Given the description of an element on the screen output the (x, y) to click on. 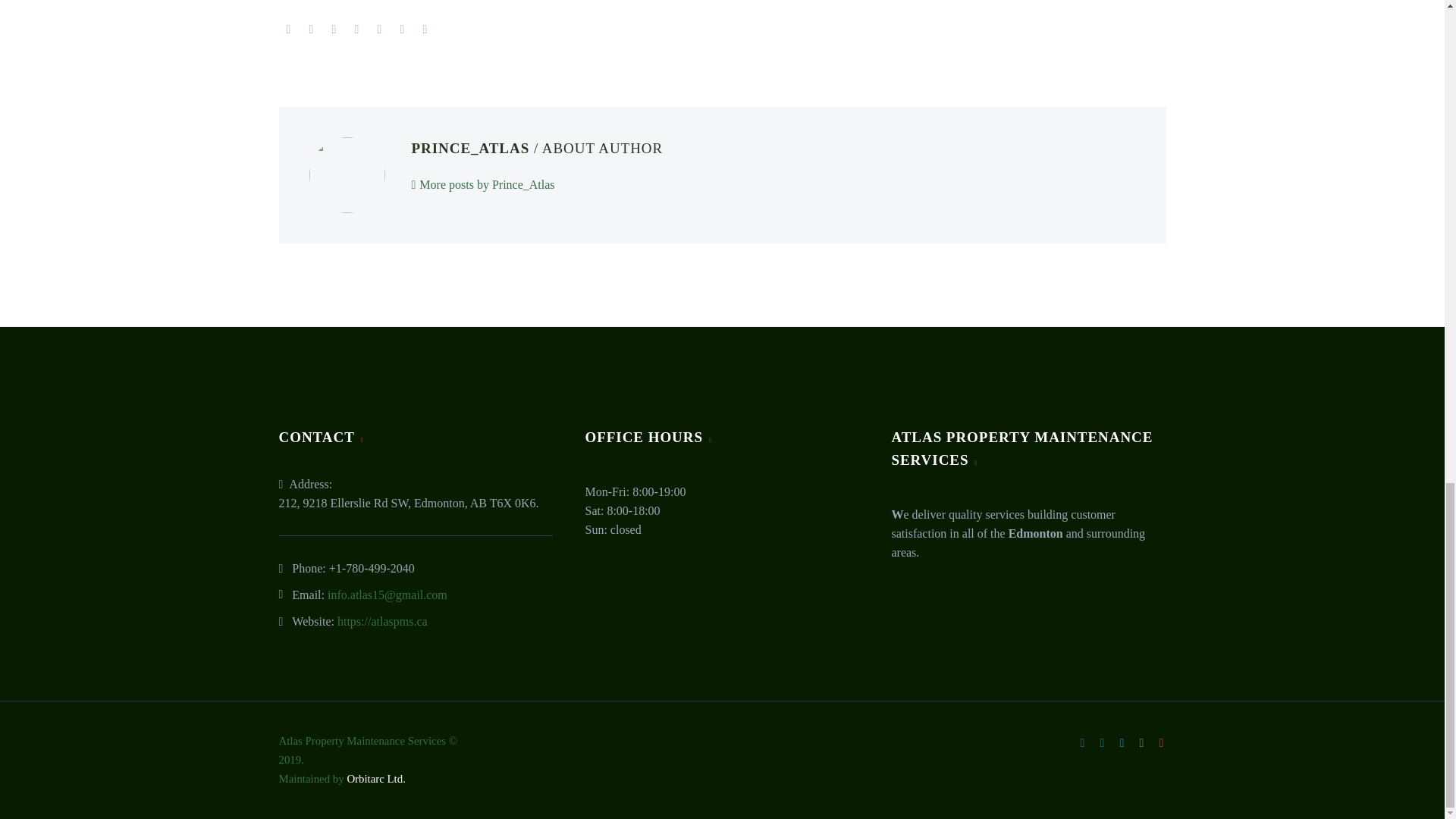
LinkedIn (401, 29)
Twitter (310, 29)
linkedin (1102, 743)
StumbleUpon (424, 29)
Google Plus (333, 29)
facebook (1083, 743)
Tumblr (378, 29)
Pinterest (356, 29)
Facebook (288, 29)
